Given the description of an element on the screen output the (x, y) to click on. 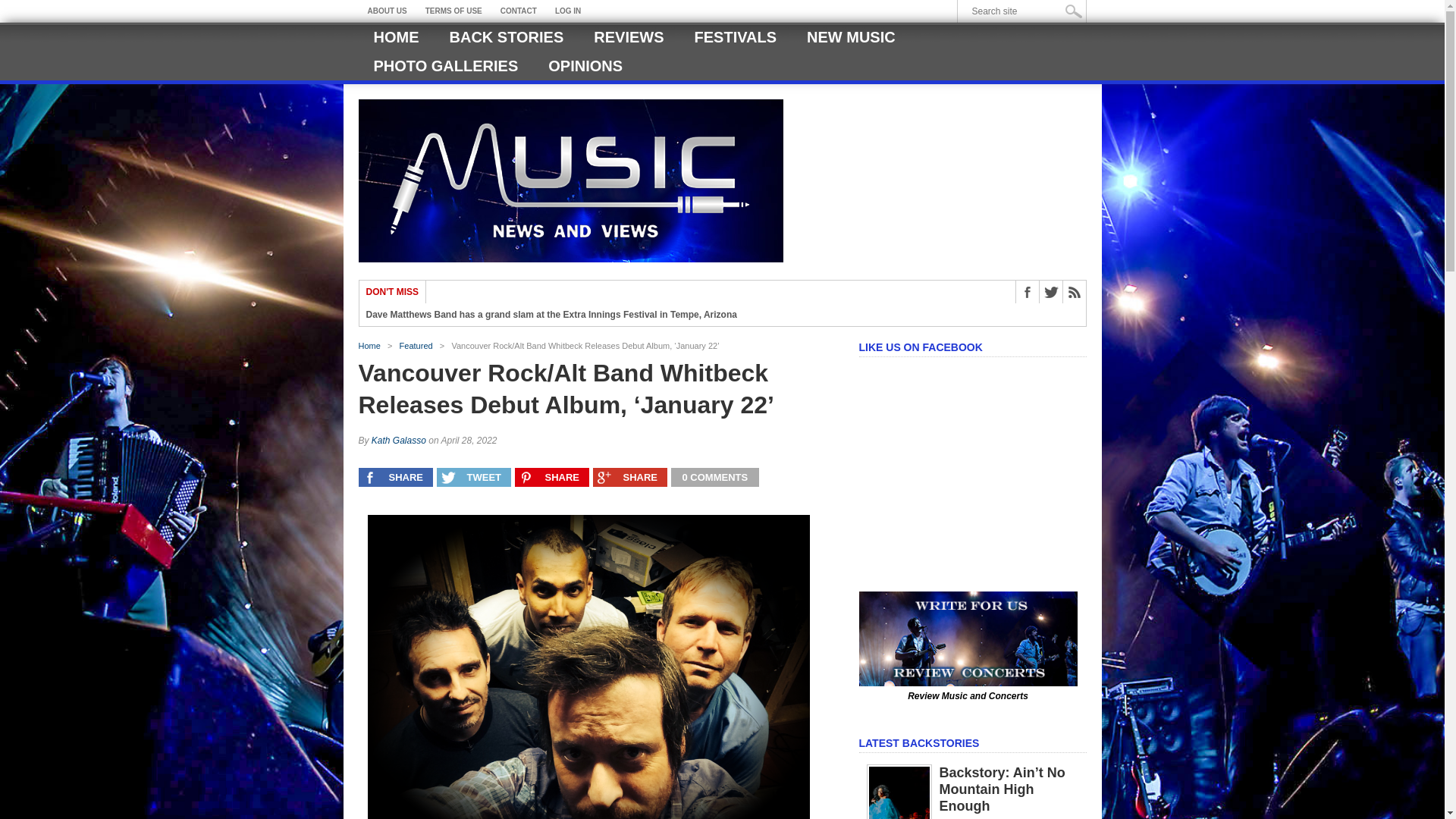
Posts by Kath Galasso (398, 439)
BACK STORIES (505, 36)
Featured (415, 345)
ABOUT US (386, 11)
FESTIVALS (735, 36)
REVIEWS (628, 36)
HOME (395, 36)
Kath Galasso (398, 439)
LOG IN (567, 11)
TERMS OF USE (454, 11)
Search site (1024, 11)
NEW MUSIC (851, 36)
OPINIONS (584, 65)
Home (369, 345)
CONTACT (519, 11)
